Given the description of an element on the screen output the (x, y) to click on. 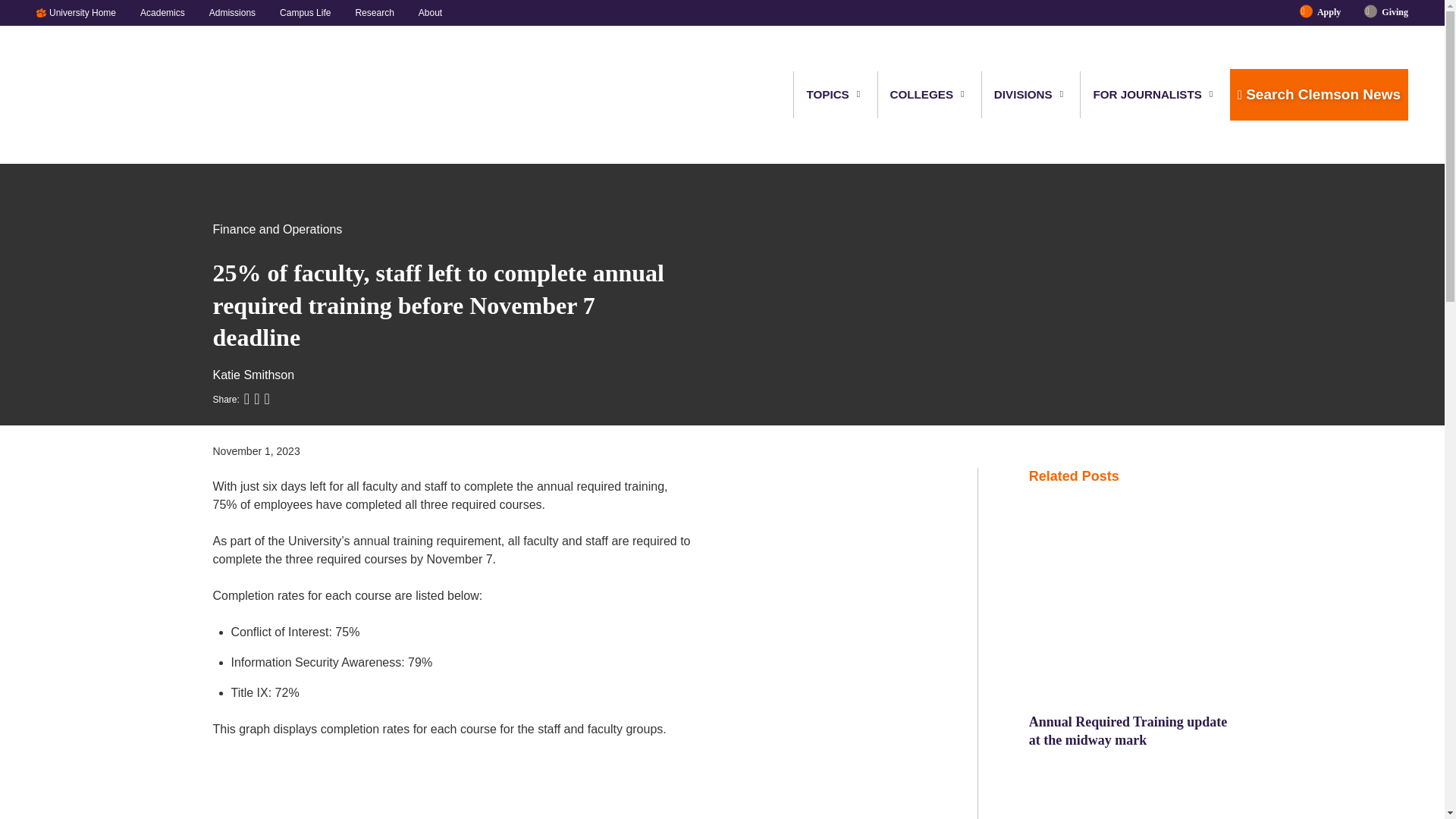
About (424, 12)
Academics (162, 12)
Campus Life (304, 12)
Research (374, 12)
DIVISIONS (1023, 94)
Clemson News (114, 94)
University Home (88, 12)
Apply (1328, 11)
Giving (1388, 11)
COLLEGES (922, 94)
Posts by Katie Smithson (253, 374)
TOPICS (828, 94)
Admissions (231, 12)
